Given the description of an element on the screen output the (x, y) to click on. 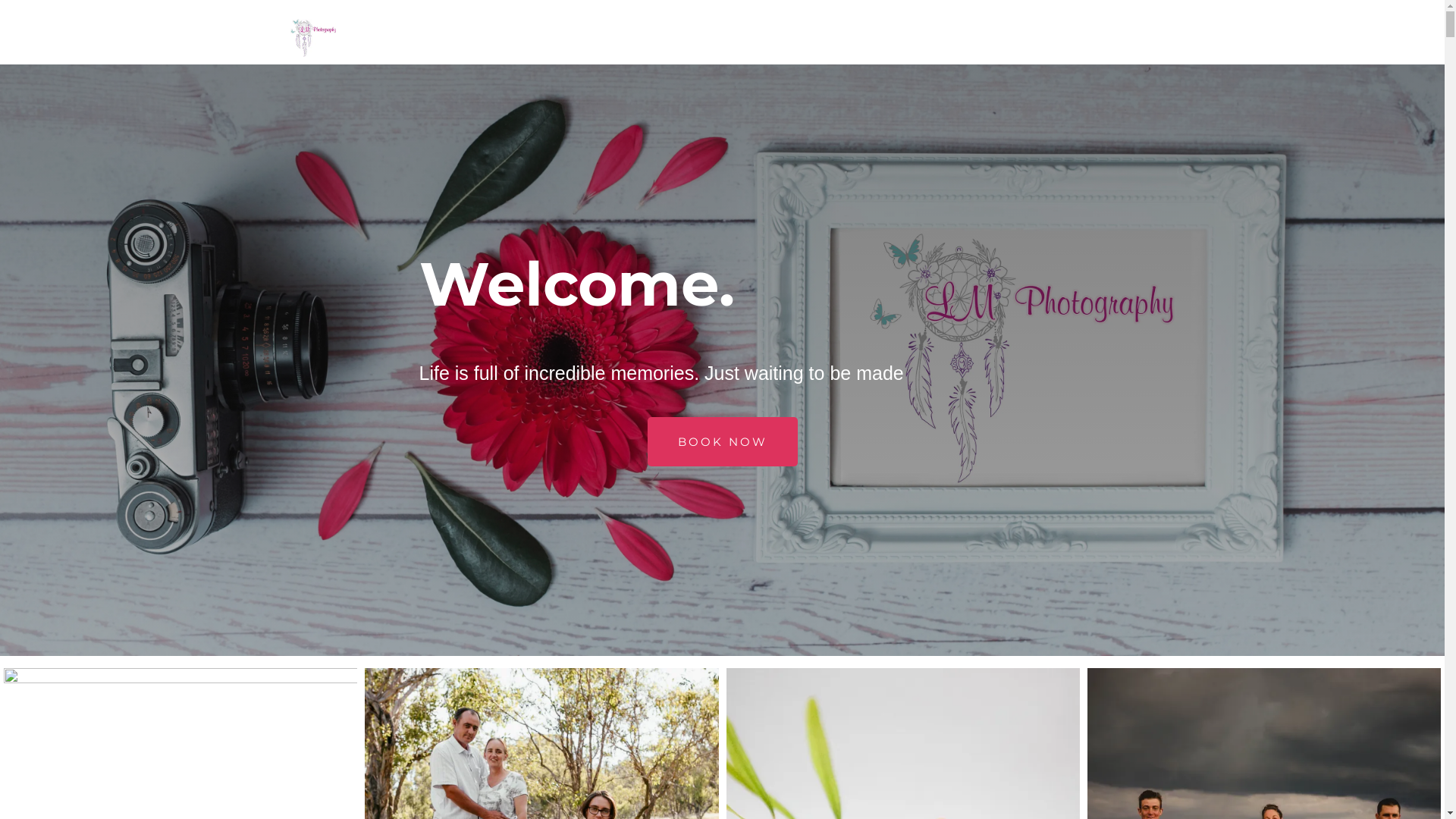
ABOUT Element type: text (977, 37)
PORTFOLIO Element type: text (1114, 37)
Life's Moments Photography Element type: hover (313, 37)
BOOK NOW Element type: text (722, 441)
CONTACT Element type: text (1041, 37)
